Given the description of an element on the screen output the (x, y) to click on. 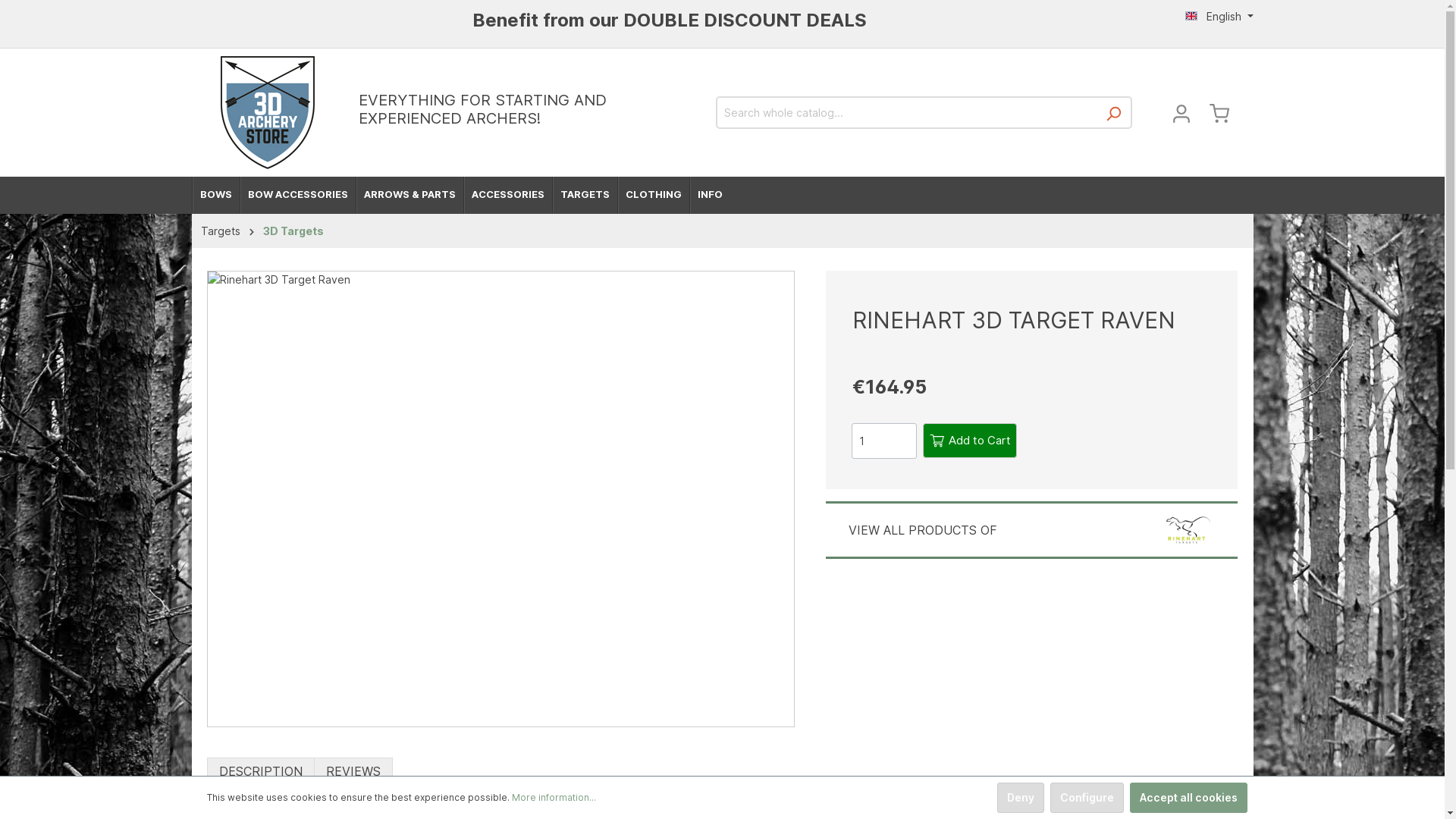
Go to homepage Element type: hover (266, 112)
Shopping cart Element type: hover (1218, 112)
Targets Element type: text (219, 230)
INFO Element type: text (708, 194)
Your account Element type: hover (1180, 112)
BOW ACCESSORIES Element type: text (297, 194)
DESCRIPTION Element type: text (259, 771)
3D Targets Element type: text (292, 230)
Configure Element type: text (1086, 797)
Deny Element type: text (1019, 797)
REVIEWS Element type: text (353, 771)
English Element type: text (1219, 16)
Add to Cart Element type: text (969, 440)
Benefit from our DOUBLE DISCOUNT DEALS Element type: text (668, 20)
ACCESSORIES Element type: text (506, 194)
TARGETS Element type: text (584, 194)
CLOTHING Element type: text (653, 194)
Accept all cookies Element type: text (1188, 797)
More information... Element type: text (553, 797)
ARROWS & PARTS Element type: text (408, 194)
BOWS Element type: text (214, 194)
Rinehart 3D Target Raven Element type: hover (500, 498)
Rinehart Element type: hover (1188, 527)
